Given the description of an element on the screen output the (x, y) to click on. 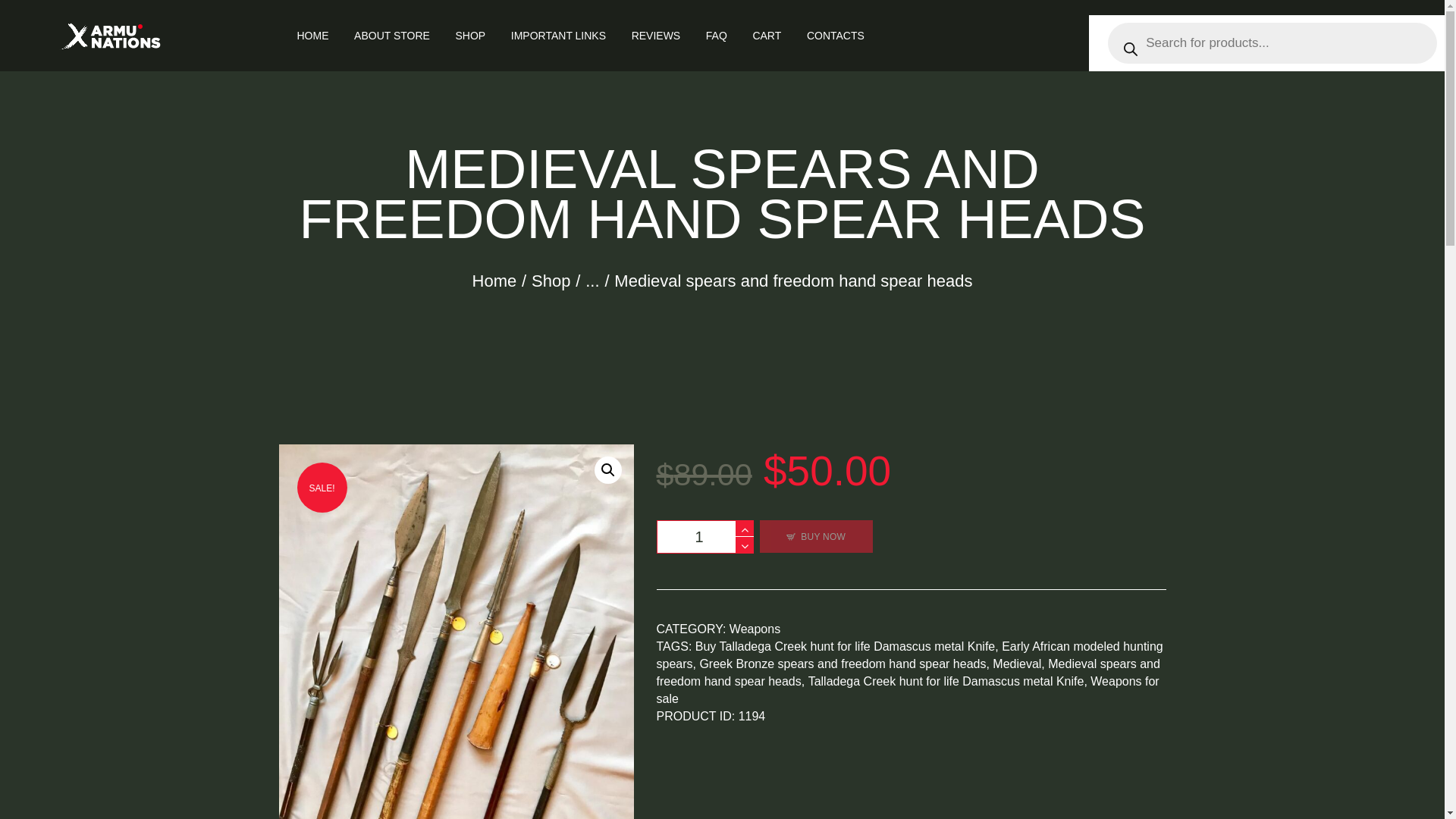
REVIEWS (655, 35)
CART (766, 35)
HOME (312, 35)
FAQ (716, 35)
BUY NOW (816, 536)
ABOUT STORE (391, 35)
Shop (550, 280)
8e458322-bd52-4c0e-8fa1-fb6b9291add9.jpg (456, 631)
1 (705, 536)
IMPORTANT LINKS (557, 35)
Home (493, 280)
SHOP (469, 35)
CONTACTS (835, 35)
